Given the description of an element on the screen output the (x, y) to click on. 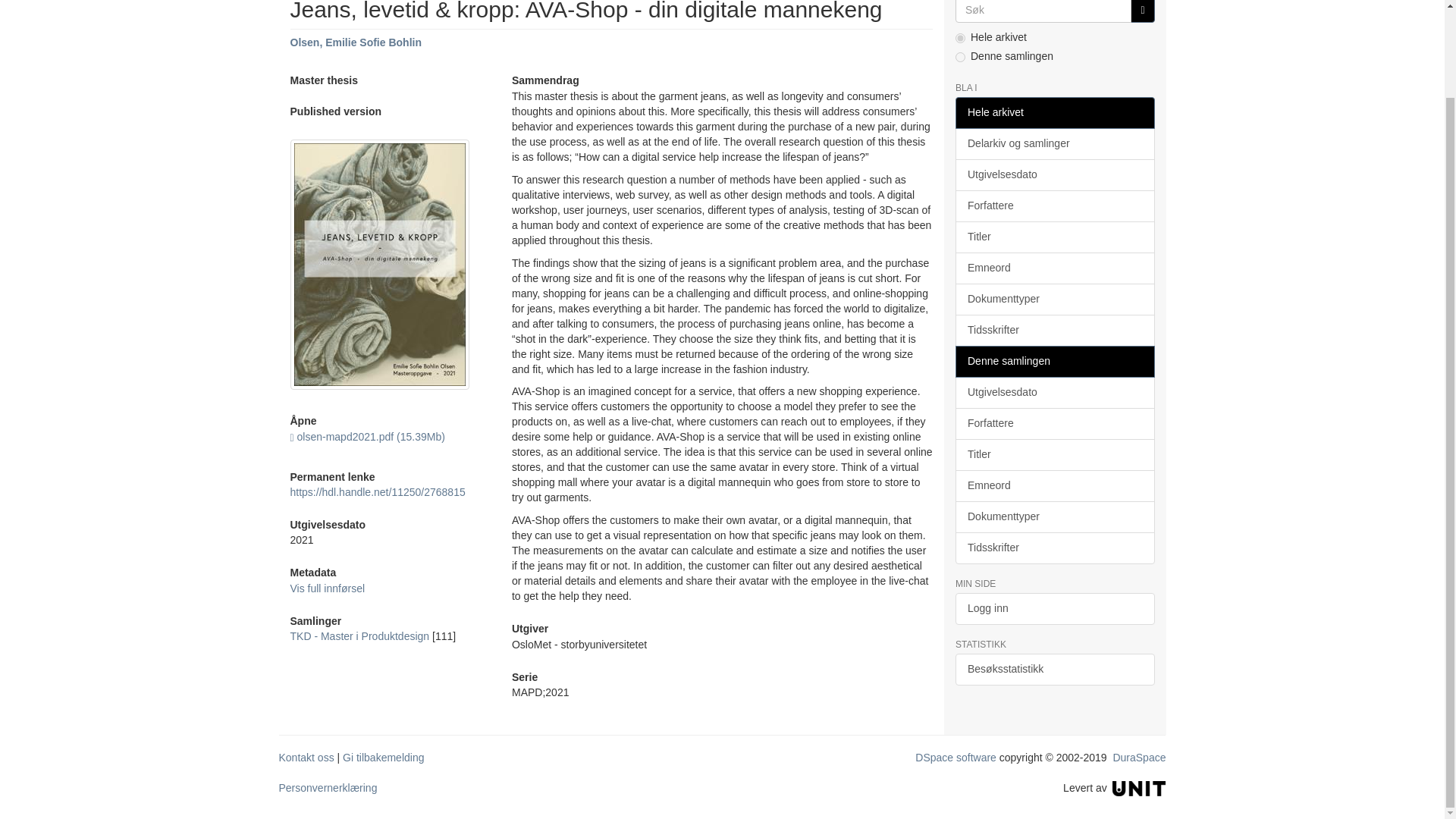
Unit (1139, 787)
Titler (1054, 237)
TKD - Master i Produktdesign (359, 635)
Olsen, Emilie Sofie Bohlin (354, 42)
Hele arkivet (1054, 112)
Forfattere (1054, 205)
Emneord (1054, 268)
Utgivelsesdato (1054, 174)
Delarkiv og samlinger (1054, 143)
